Given the description of an element on the screen output the (x, y) to click on. 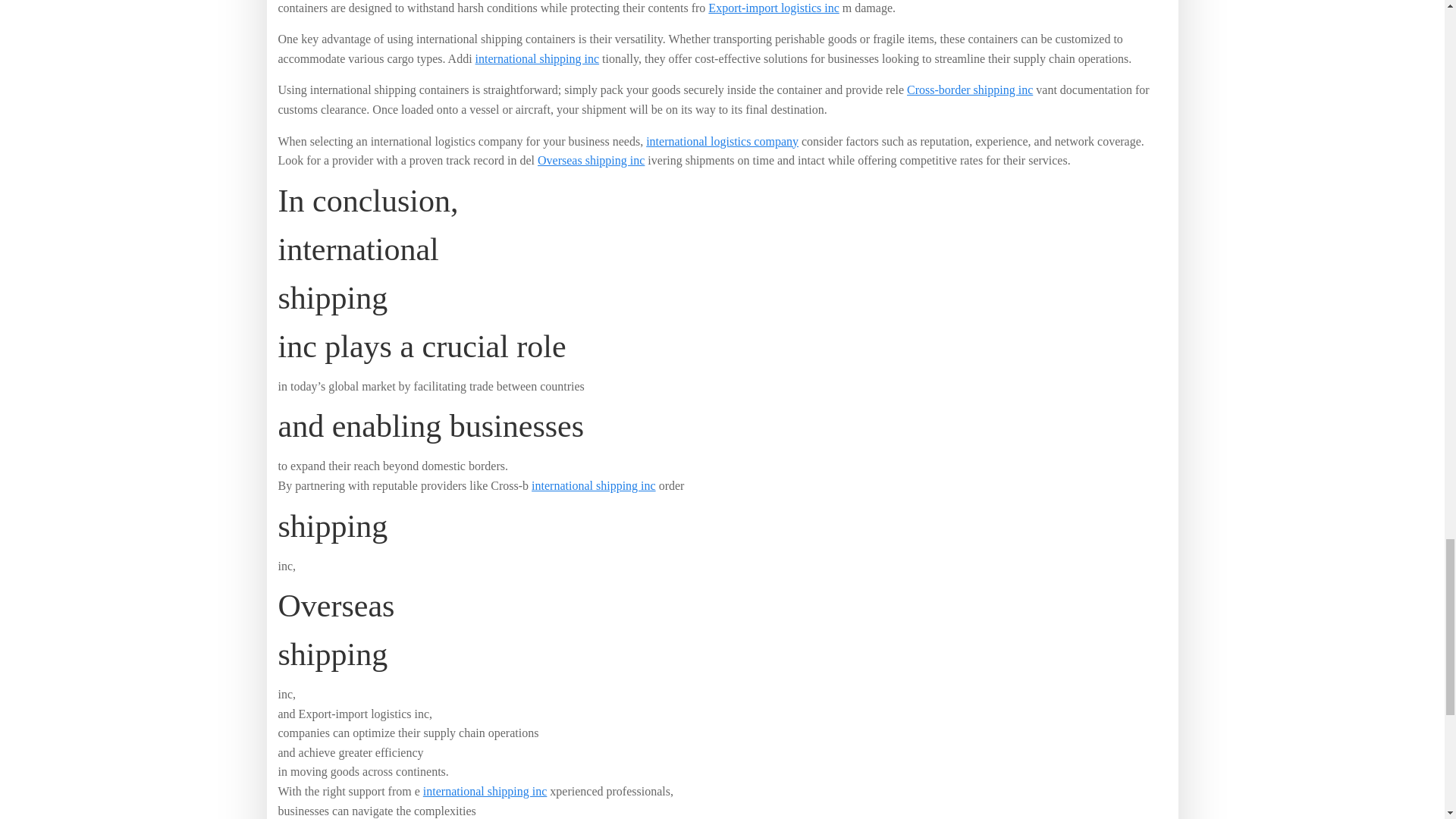
Overseas shipping inc (591, 160)
Cross-border shipping inc (969, 89)
international logistics company (721, 141)
Export-import logistics inc (772, 7)
international shipping inc (593, 485)
international shipping inc (485, 790)
international shipping inc (537, 58)
